Given the description of an element on the screen output the (x, y) to click on. 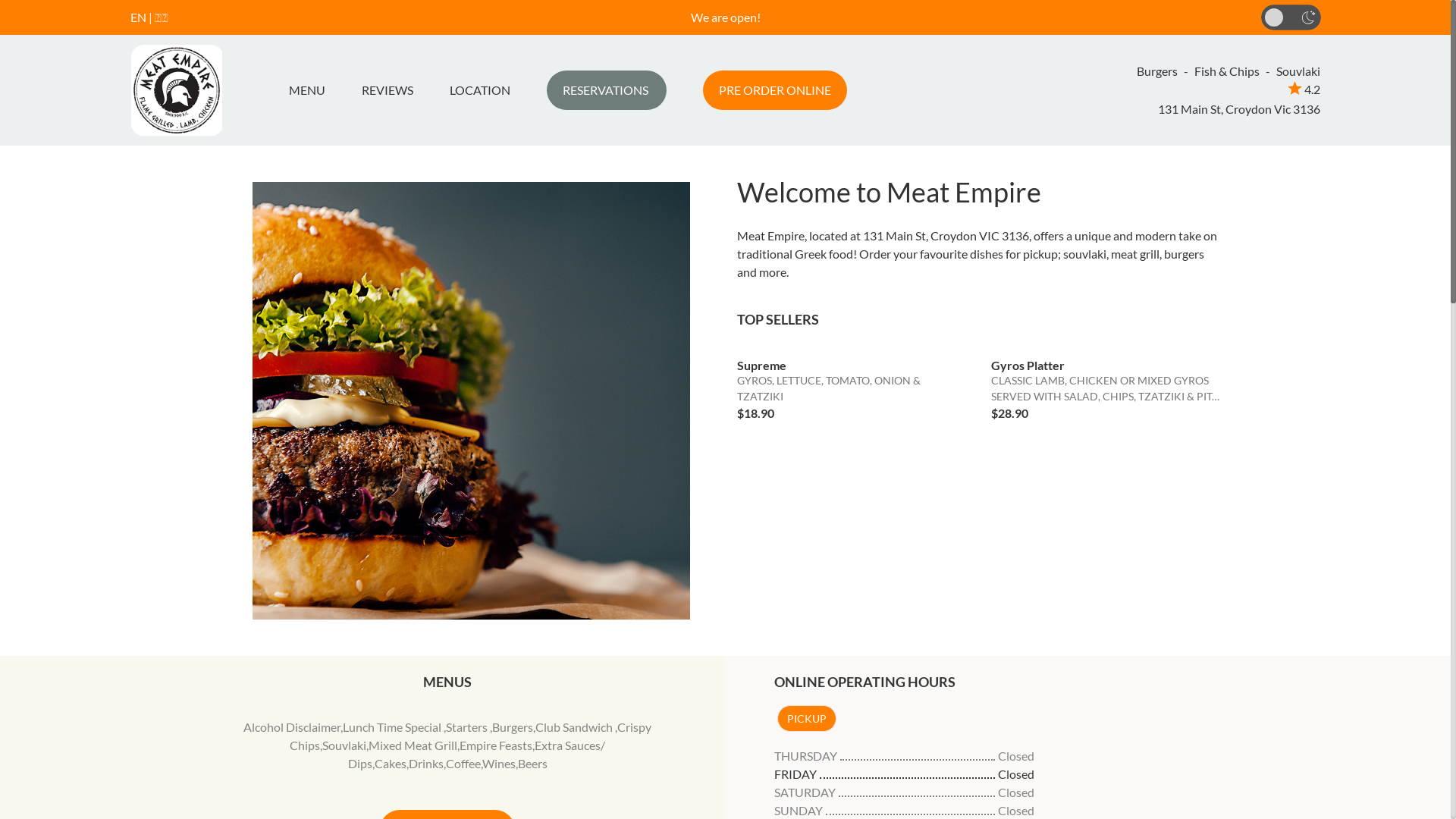
Coffee Element type: text (462, 763)
MENU Element type: text (312, 90)
Wines Element type: text (498, 763)
Cakes Element type: text (390, 763)
Empire Feasts Element type: text (495, 744)
4.2 Element type: text (1303, 88)
PRE ORDER ONLINE Element type: text (774, 89)
Burgers Element type: text (512, 726)
PICKUP Element type: text (805, 718)
Mixed Meat Grill Element type: text (412, 744)
Beers Element type: text (532, 763)
Drinks Element type: text (425, 763)
EN Element type: text (138, 16)
Extra Sauces/ Dips Element type: text (476, 753)
RESERVATIONS  Element type: text (605, 89)
Supreme
GYROS, LETTUCE, TOMATO, ONION & TZATZIKI
$18.90 Element type: text (853, 384)
Lunch Time Special Element type: text (392, 726)
Crispy Chips Element type: text (470, 735)
REVIEWS Element type: text (386, 90)
Alcohol Disclaimer Element type: text (291, 726)
Club Sandwich Element type: text (575, 726)
LOCATION Element type: text (478, 90)
Souvlaki Element type: text (344, 744)
Starters Element type: text (467, 726)
